Given the description of an element on the screen output the (x, y) to click on. 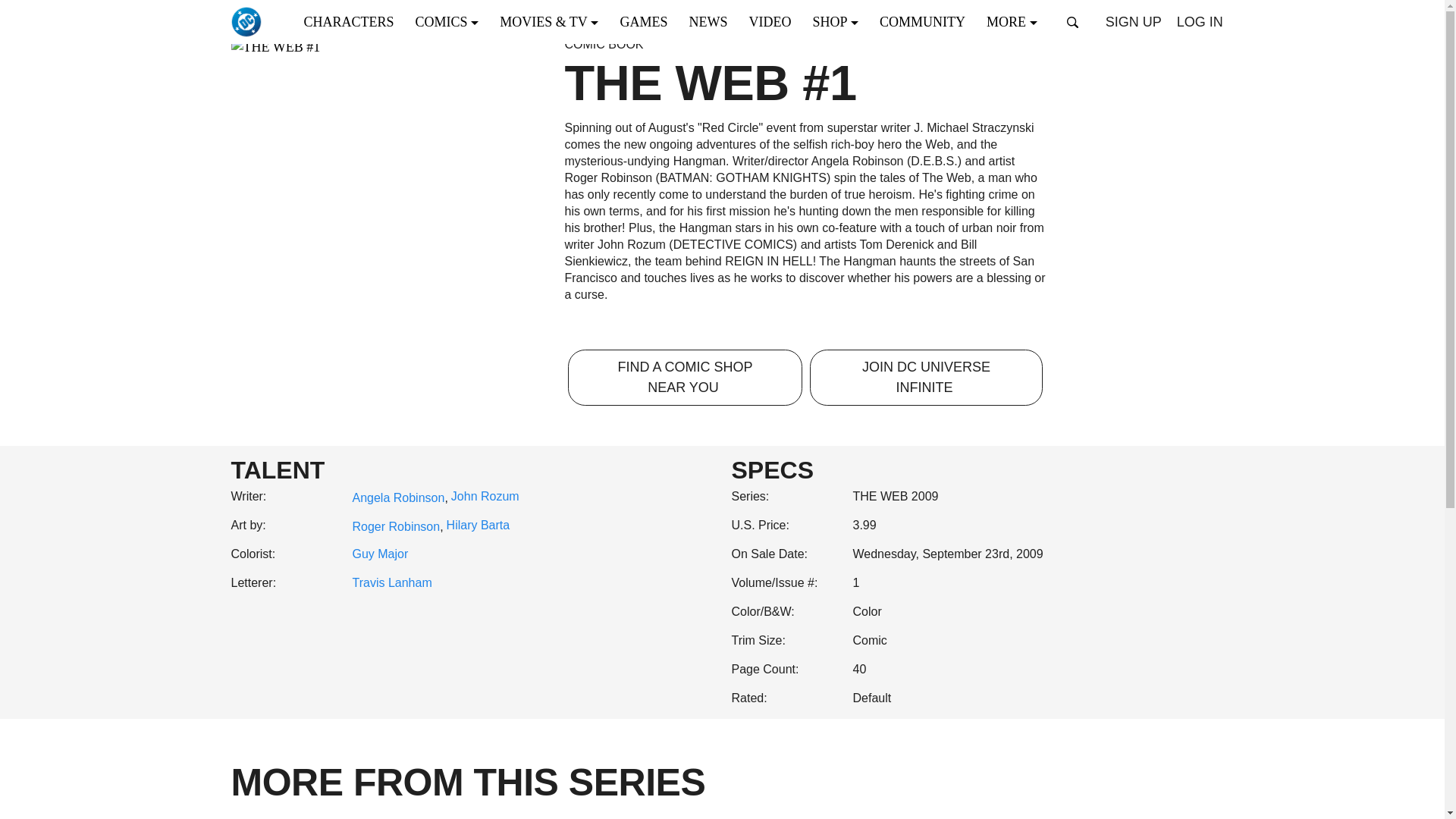
Open search (1072, 22)
CHARACTERS (353, 21)
COMICS (452, 21)
